Given the description of an element on the screen output the (x, y) to click on. 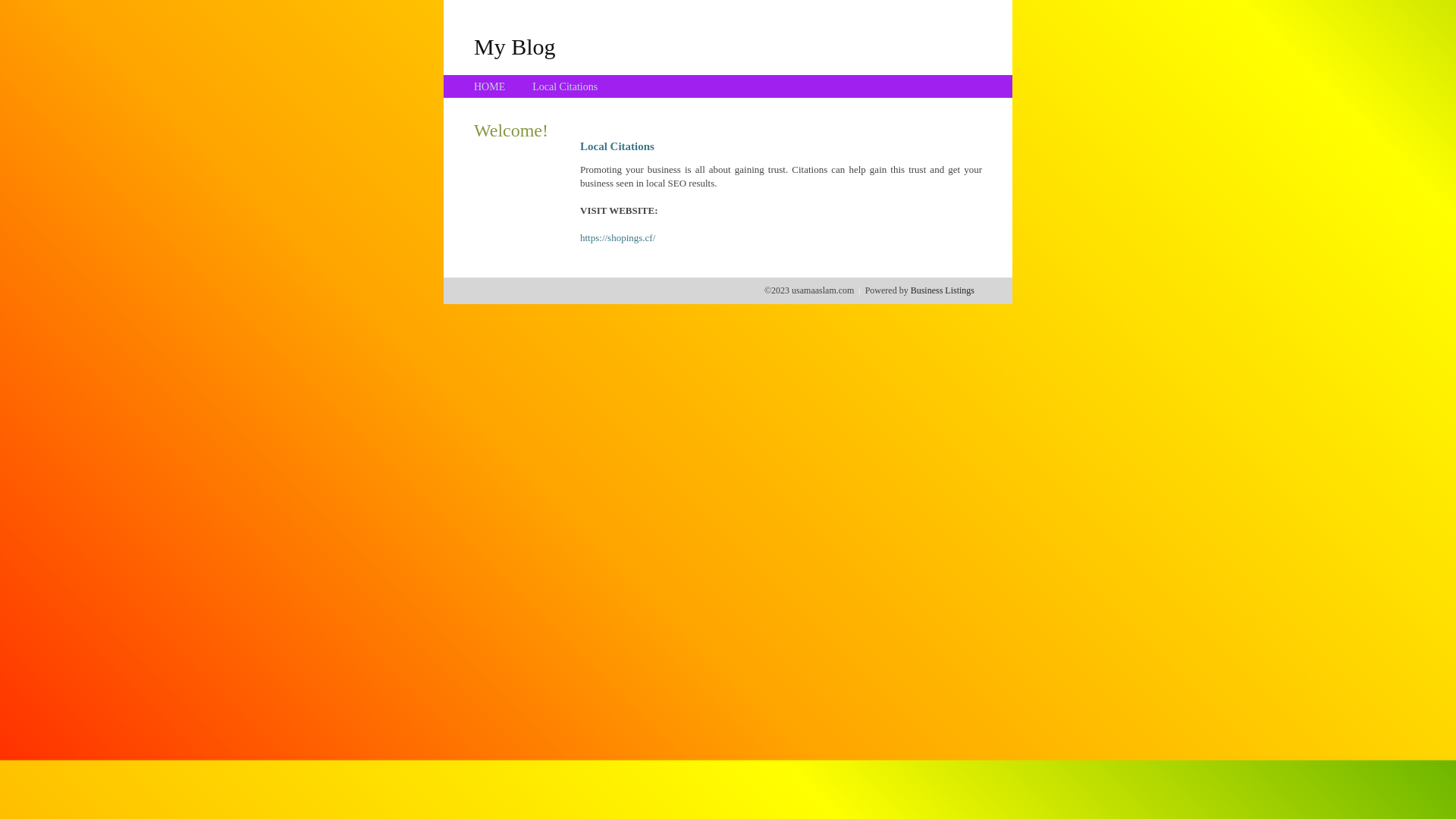
HOME Element type: text (489, 86)
Local Citations Element type: text (564, 86)
https://shopings.cf/ Element type: text (617, 237)
My Blog Element type: text (514, 46)
Business Listings Element type: text (942, 290)
